Given the description of an element on the screen output the (x, y) to click on. 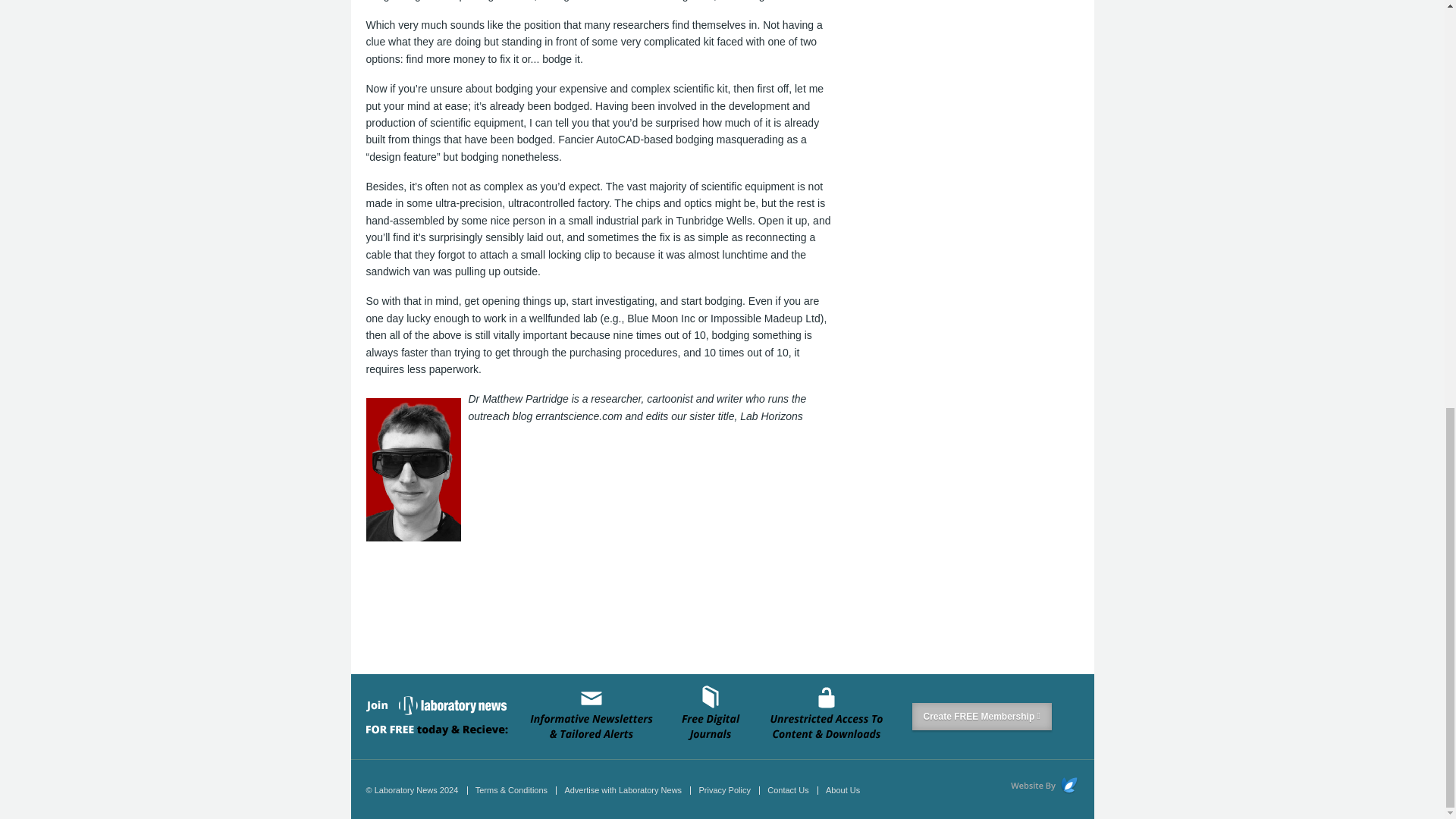
3rd party ad content (641, 609)
